Given the description of an element on the screen output the (x, y) to click on. 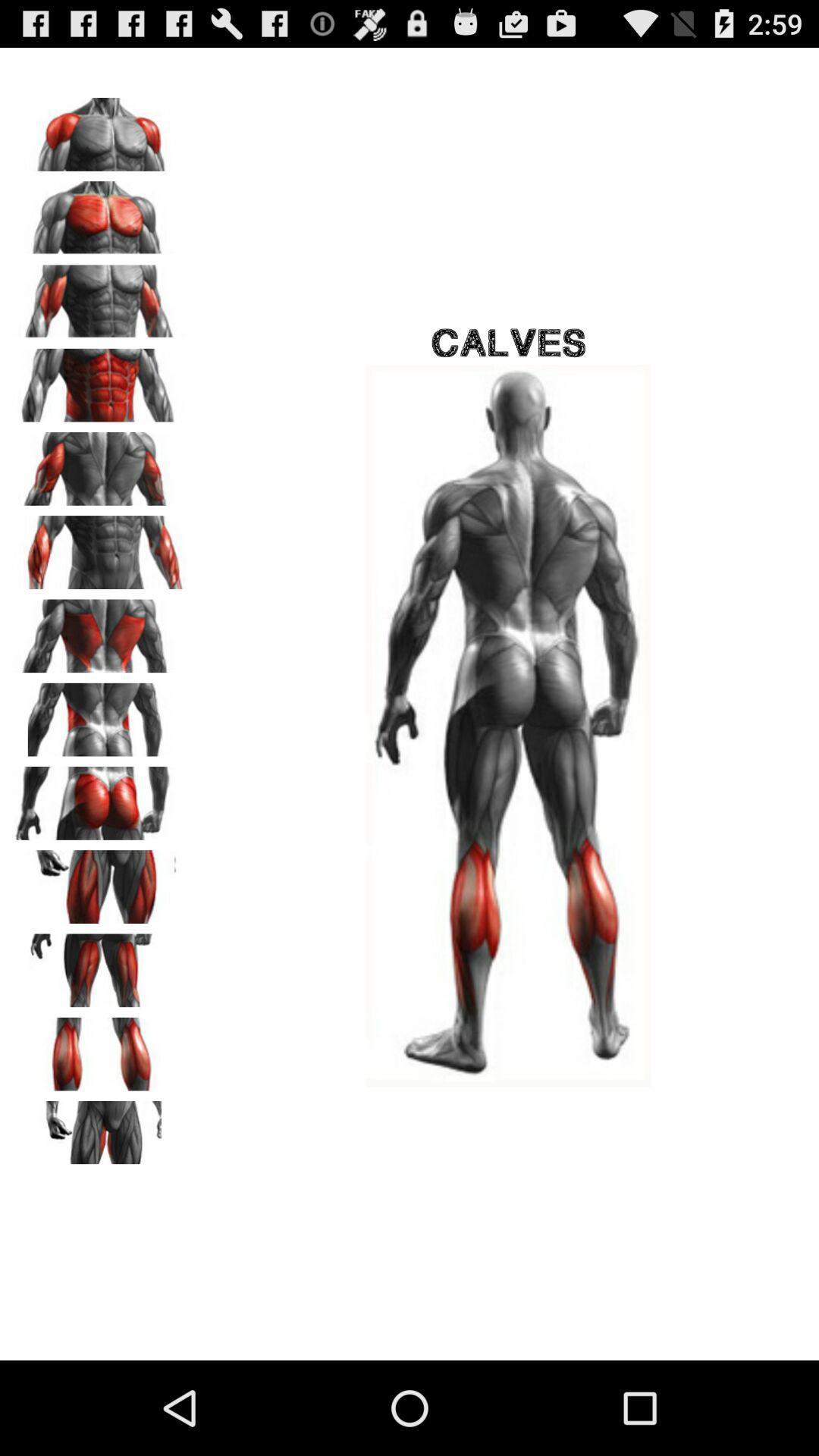
glutes (99, 798)
